Given the description of an element on the screen output the (x, y) to click on. 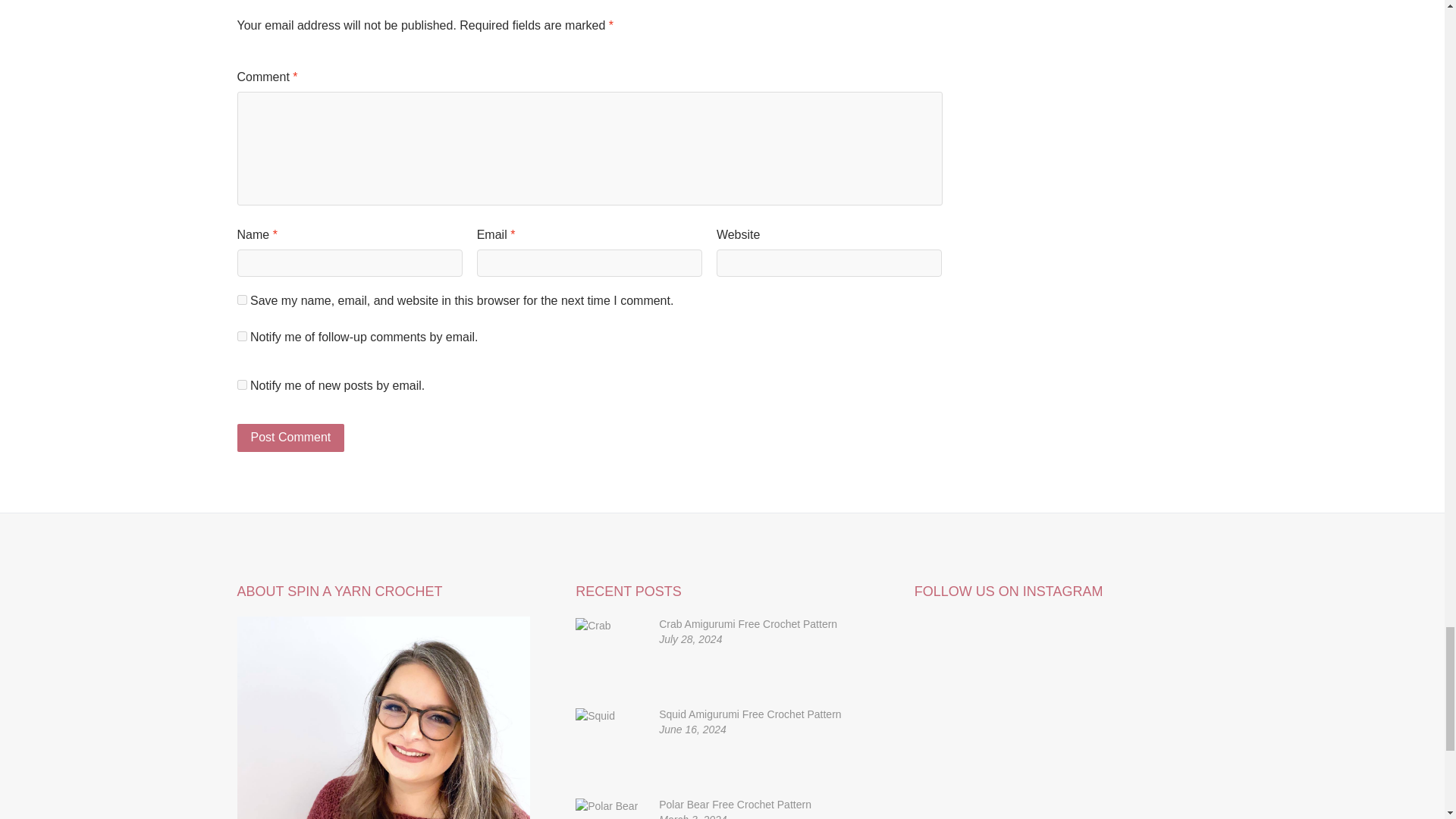
Post Comment (289, 438)
yes (240, 299)
subscribe (240, 384)
subscribe (240, 336)
